Given the description of an element on the screen output the (x, y) to click on. 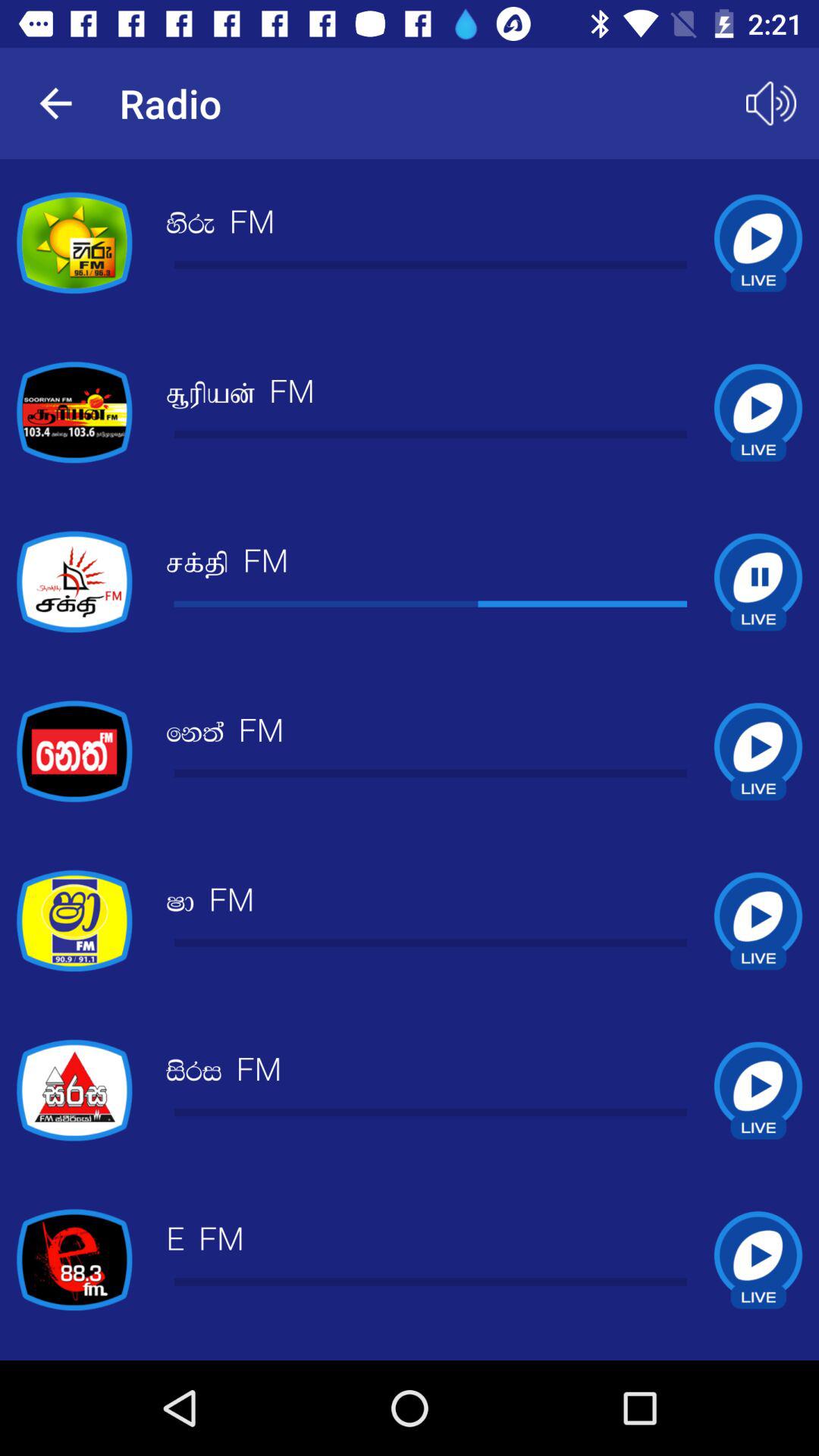
launch the e fm (205, 1240)
